Given the description of an element on the screen output the (x, y) to click on. 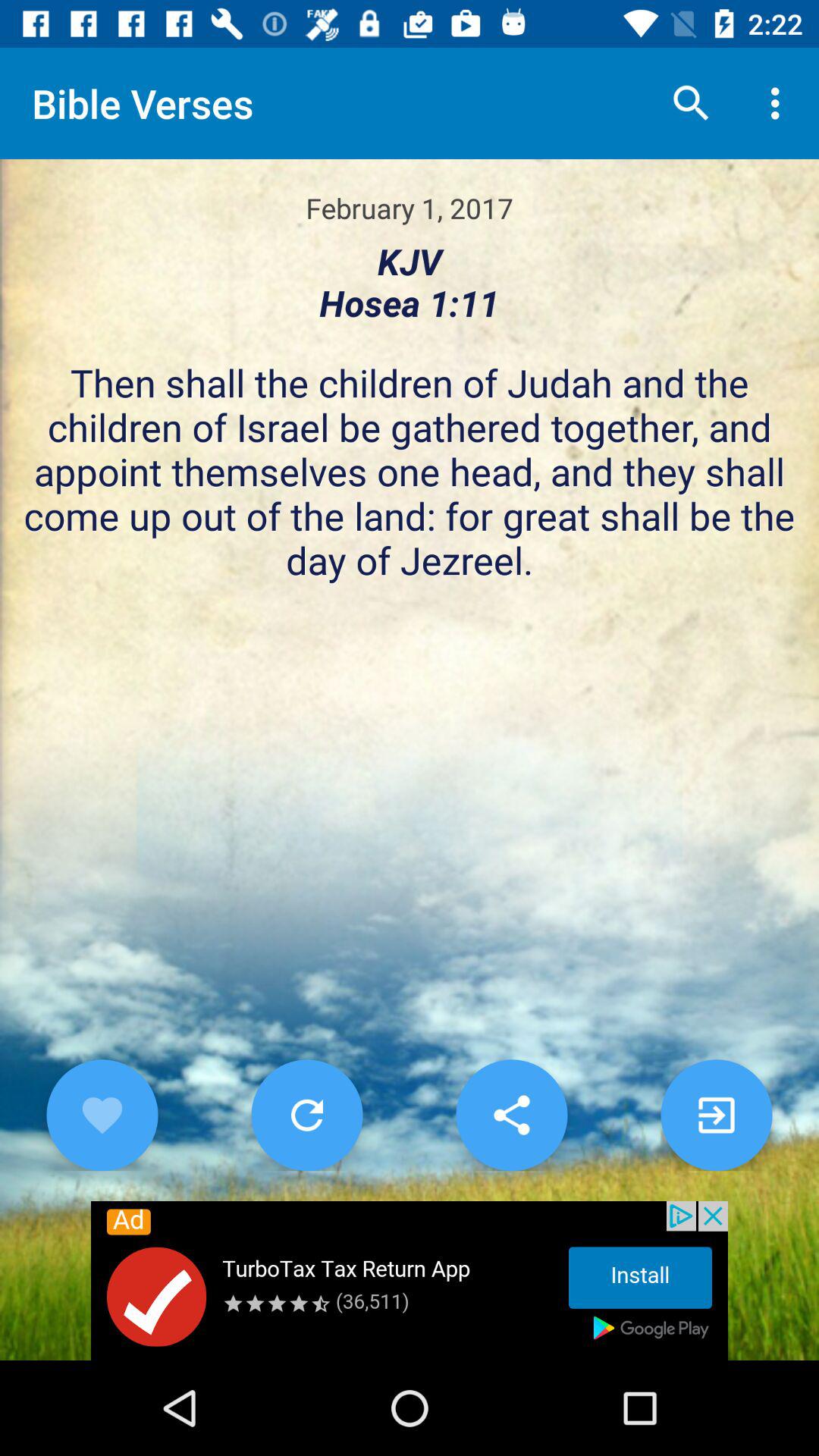
gl (716, 1115)
